Given the description of an element on the screen output the (x, y) to click on. 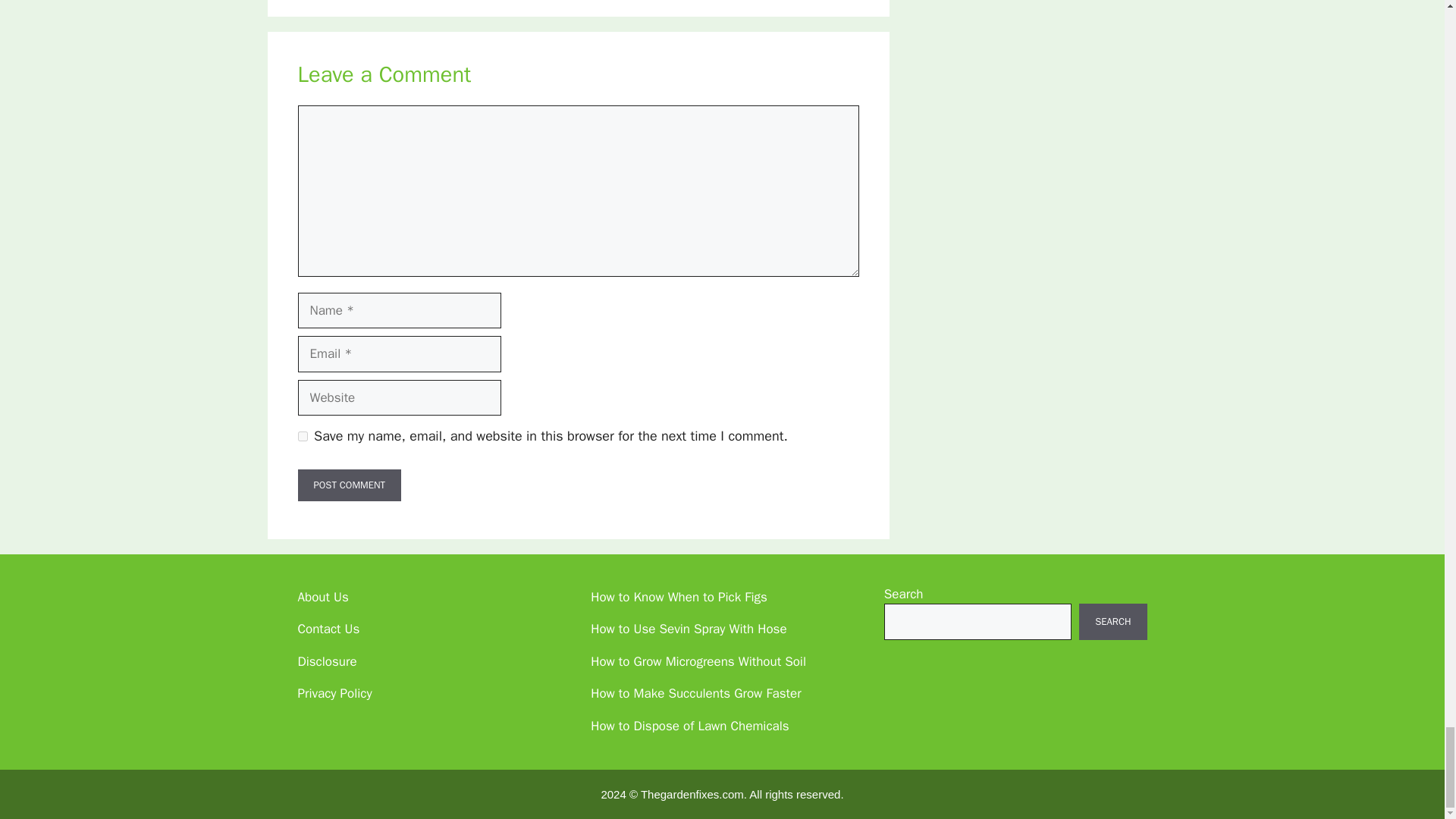
yes (302, 436)
Post Comment (349, 485)
How to Make Succulents Grow Faster (695, 693)
SEARCH (1112, 621)
Contact Us (328, 628)
How to Grow Microgreens Without Soil (698, 661)
How to Know When to Pick Figs (679, 596)
Post Comment (349, 485)
Privacy Policy (334, 693)
About Us (322, 596)
